Given the description of an element on the screen output the (x, y) to click on. 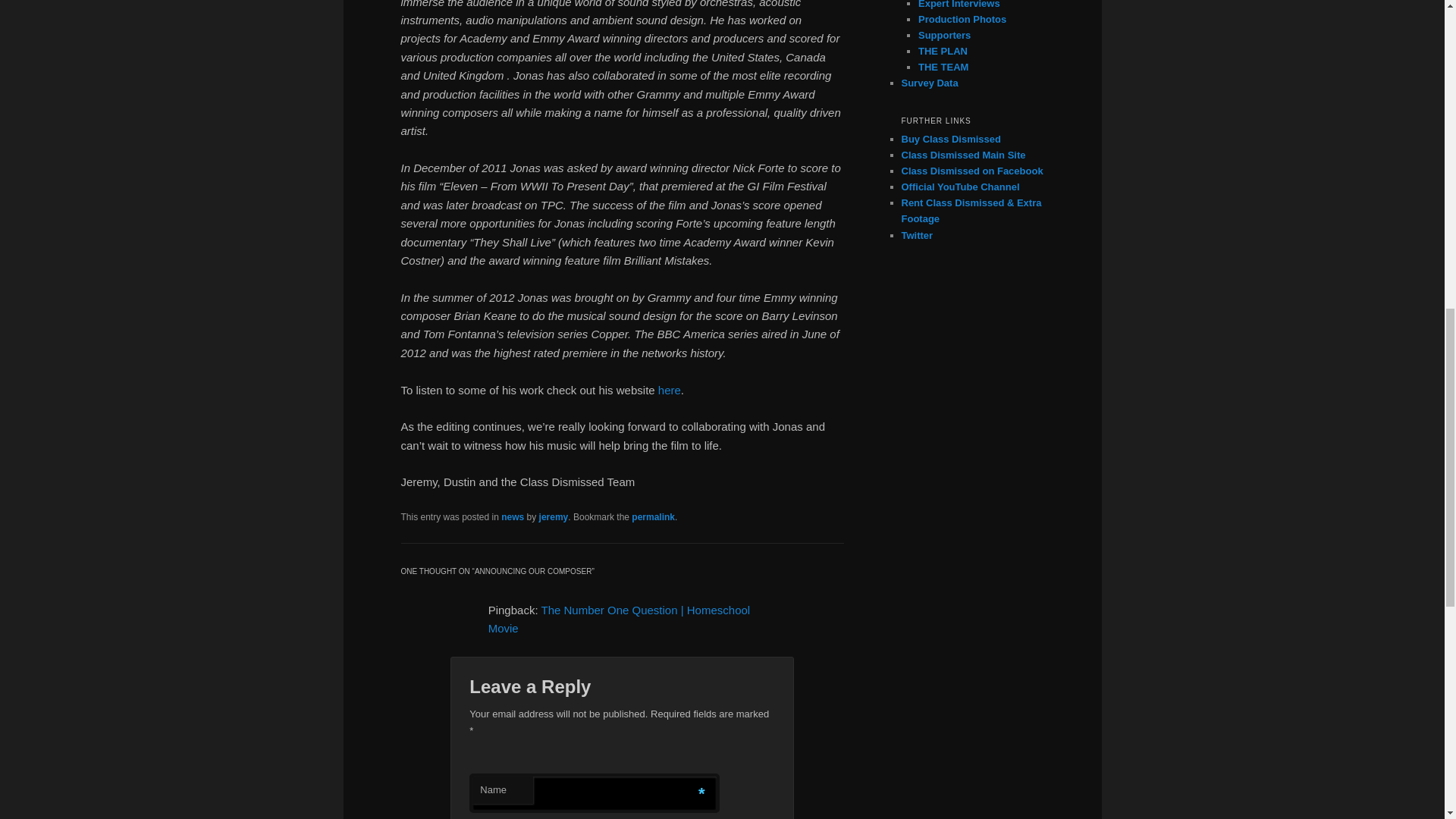
Permalink to Announcing Our Composer (653, 516)
jeremy (553, 516)
Buy the Class Dismissed movie on DVD. (951, 138)
permalink (653, 516)
news (512, 516)
View all posts in news (512, 516)
here (669, 390)
